Given the description of an element on the screen output the (x, y) to click on. 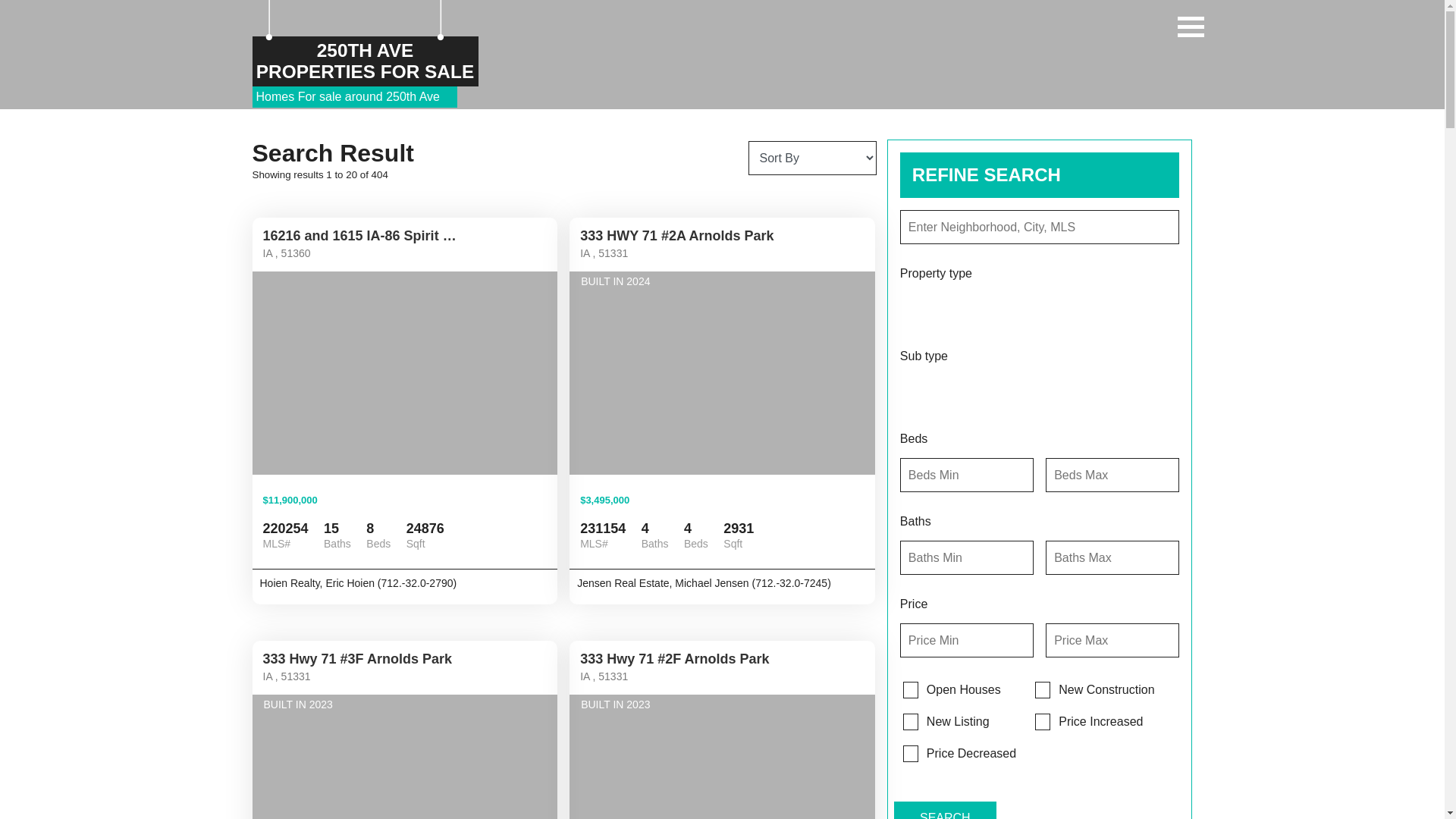
BUILT IN 2024 Element type: text (722, 372)
